Given the description of an element on the screen output the (x, y) to click on. 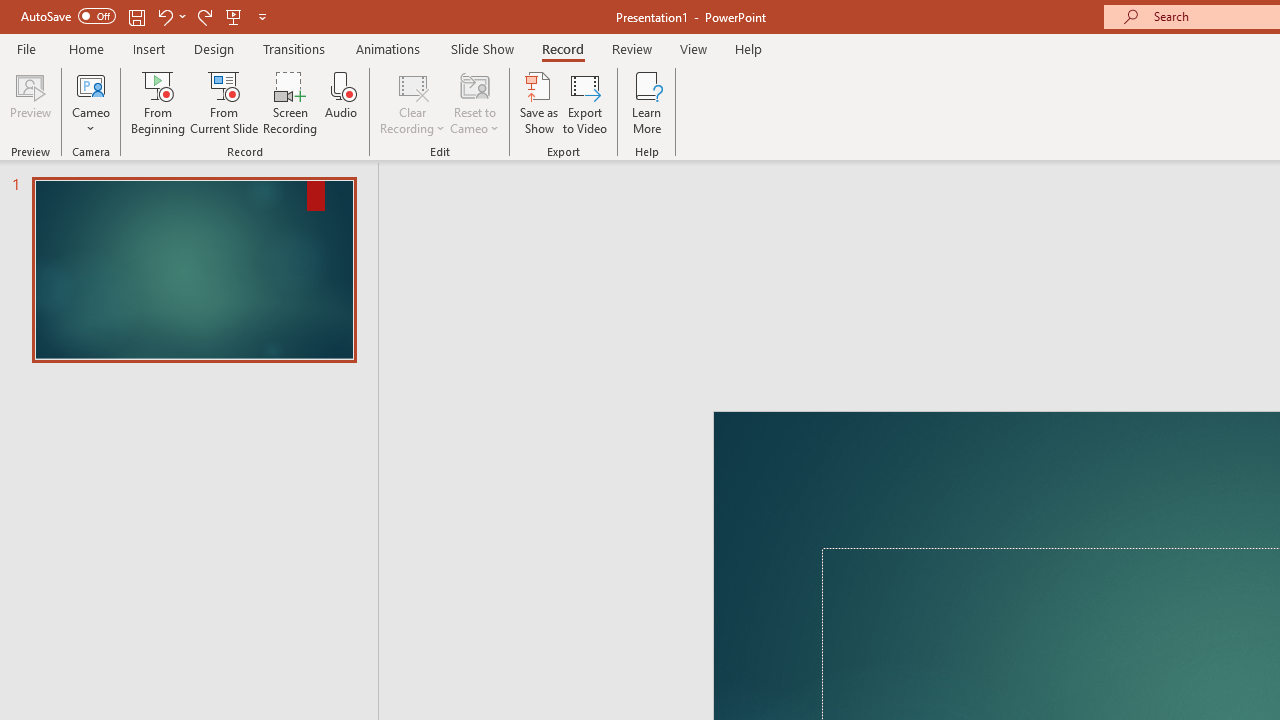
Export to Video (585, 102)
Preview (30, 102)
Learn More (646, 102)
